Given the description of an element on the screen output the (x, y) to click on. 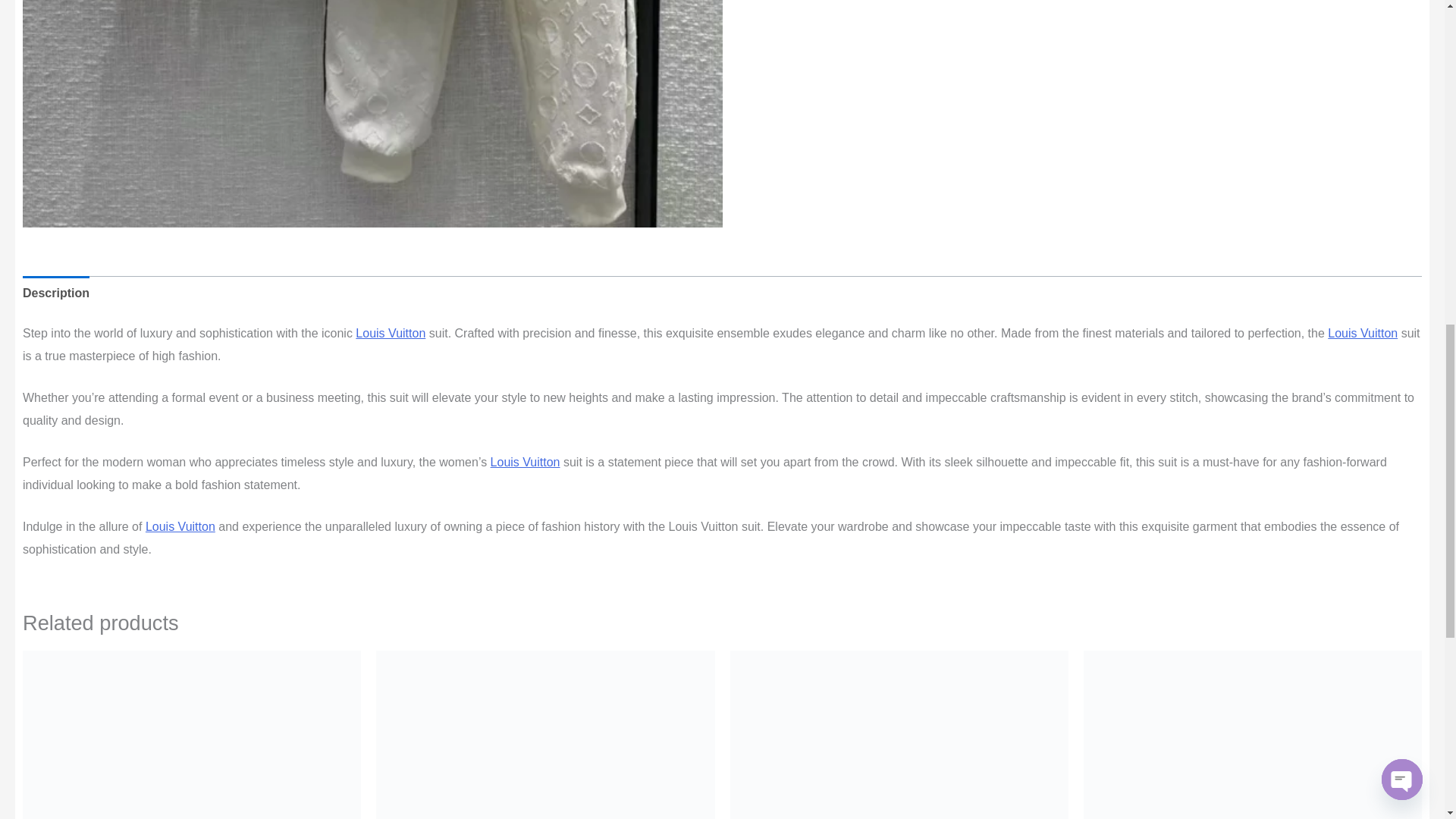
Louis Vuitton (1362, 332)
Louis Vuitton (525, 461)
Louis Vuitton (390, 332)
Description (55, 293)
Louis Vuitton (180, 526)
Louis Vuitton (525, 461)
